Given the description of an element on the screen output the (x, y) to click on. 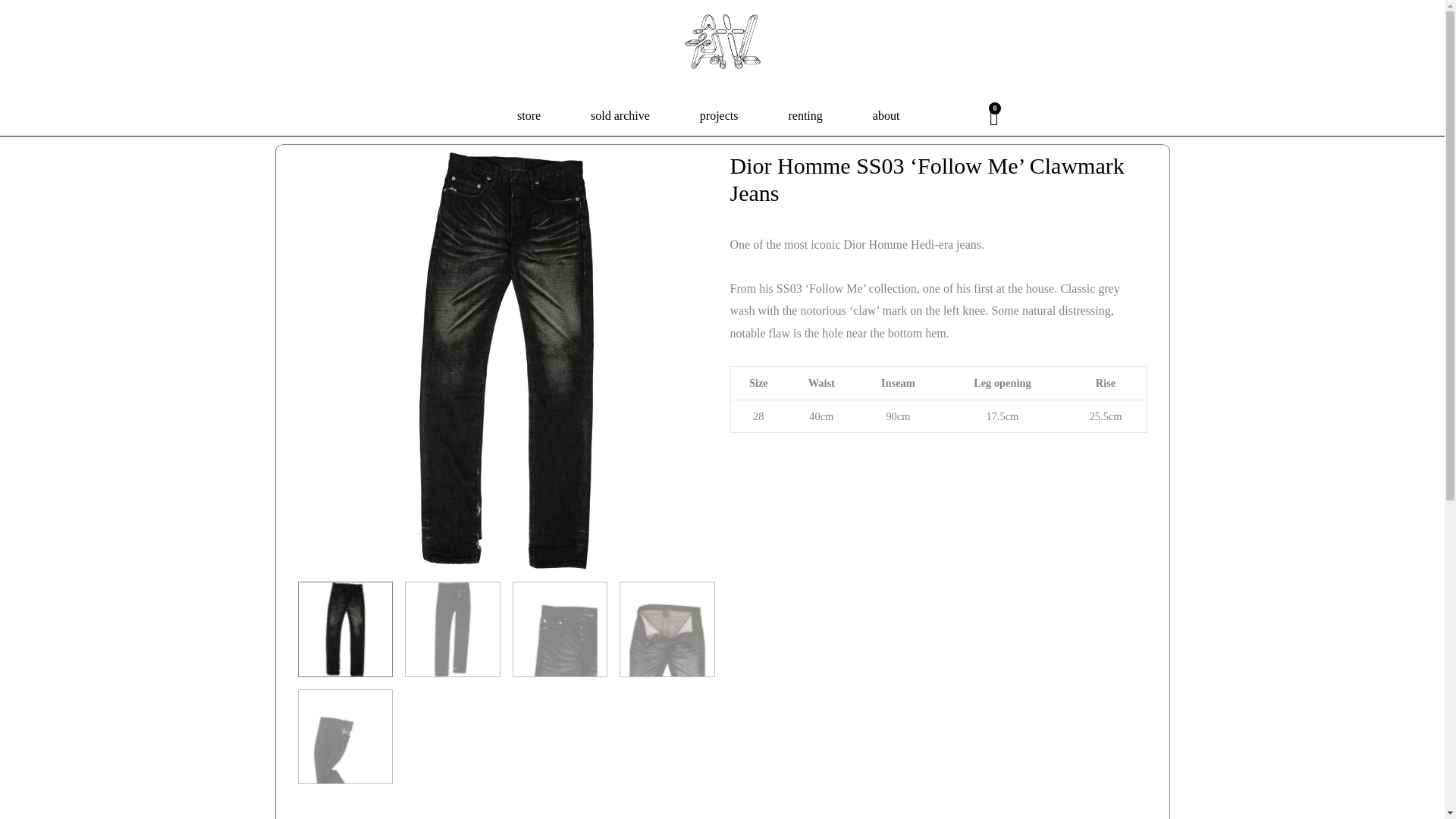
store (529, 115)
sold archive (620, 115)
about (885, 115)
projects (718, 115)
renting (804, 115)
